Given the description of an element on the screen output the (x, y) to click on. 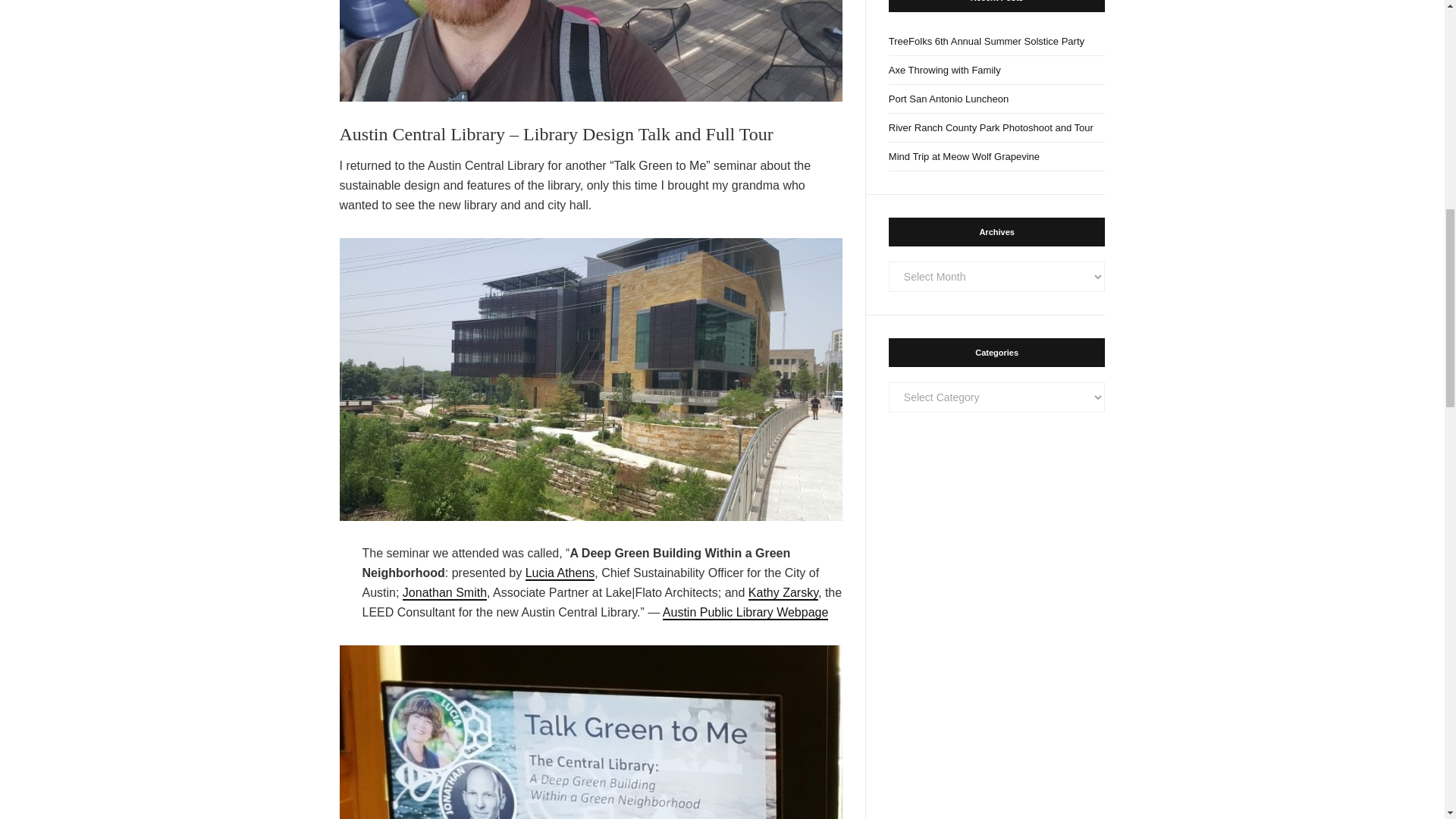
Austin Public Library Webpage (745, 612)
Lucia Athens (560, 573)
Kathy Zarsky (783, 593)
Jonathan Smith (444, 593)
